Given the description of an element on the screen output the (x, y) to click on. 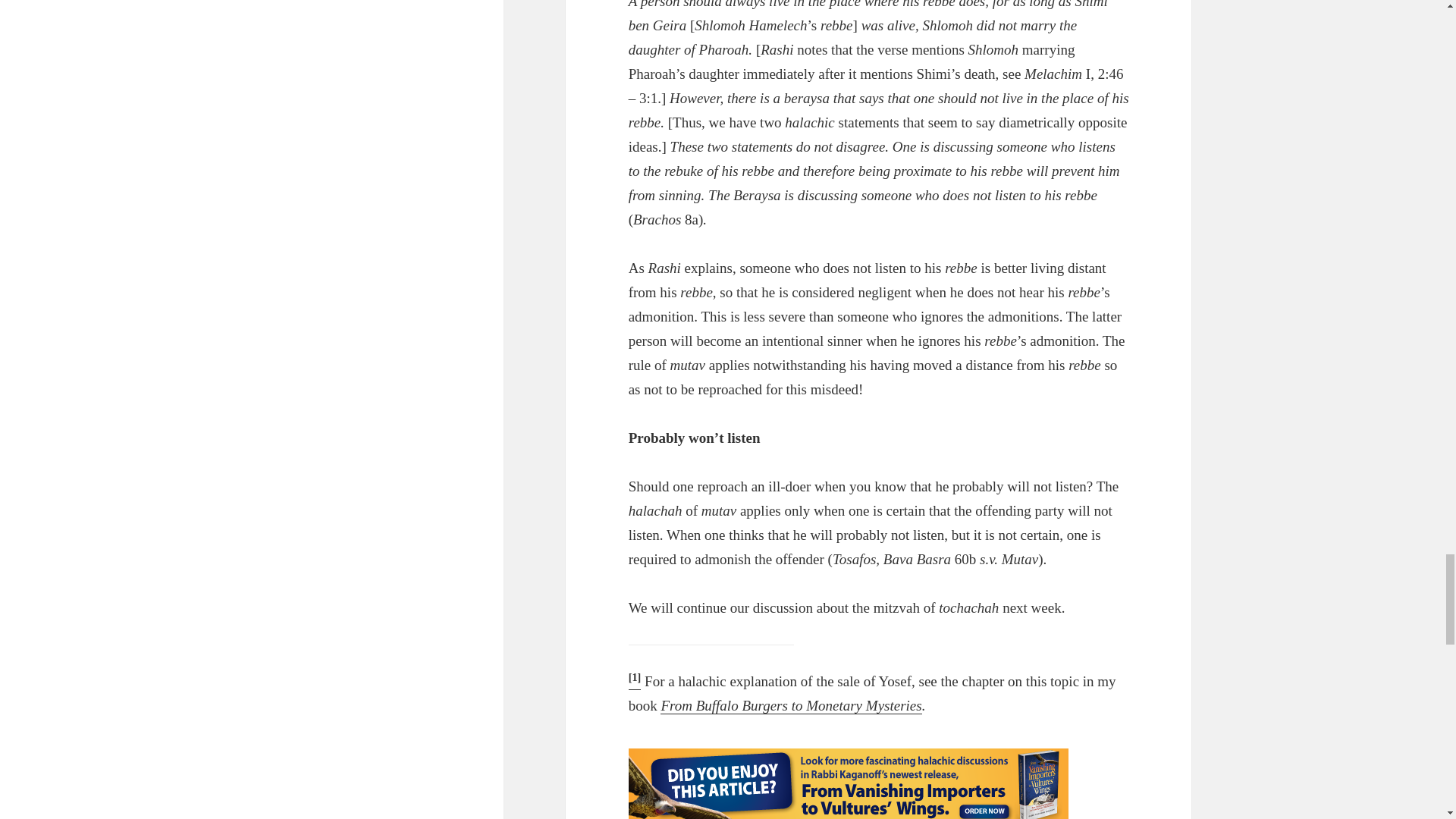
From Buffalo Burgers to Monetary Mysteries (791, 705)
